Given the description of an element on the screen output the (x, y) to click on. 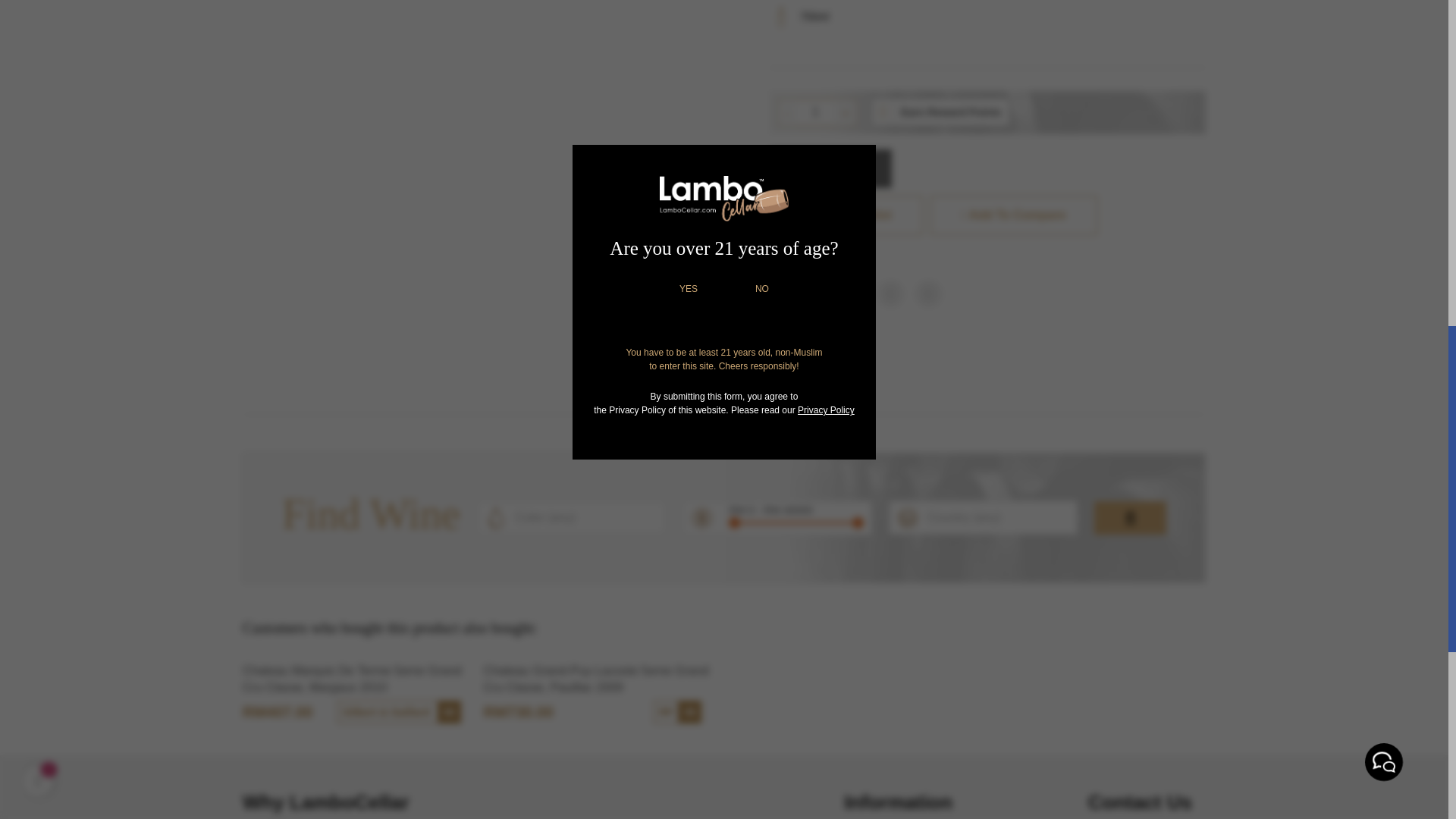
1 (815, 112)
